Given the description of an element on the screen output the (x, y) to click on. 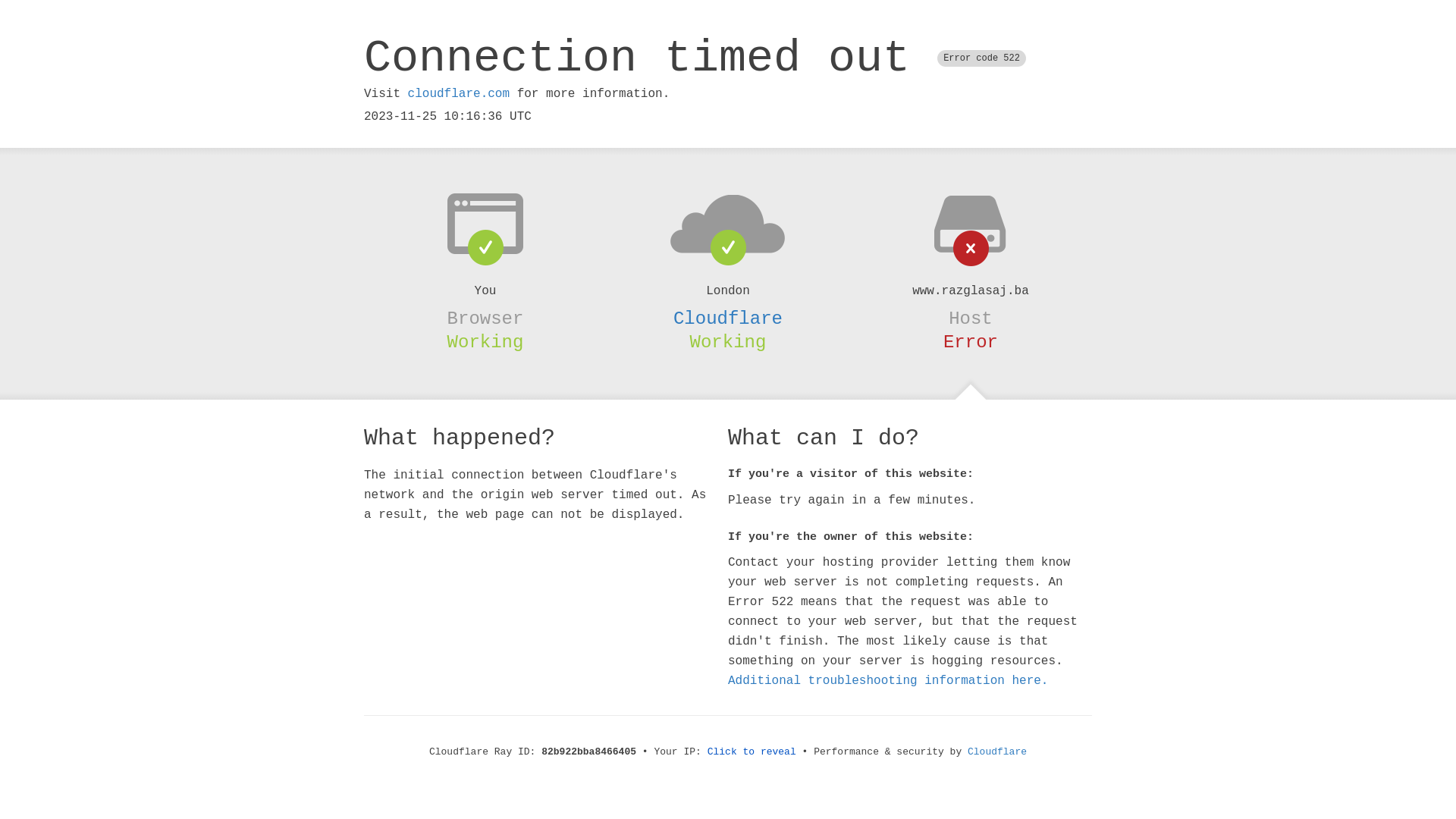
Cloudflare Element type: text (996, 751)
Additional troubleshooting information here. Element type: text (888, 680)
cloudflare.com Element type: text (458, 93)
Click to reveal Element type: text (751, 751)
Cloudflare Element type: text (727, 318)
